Given the description of an element on the screen output the (x, y) to click on. 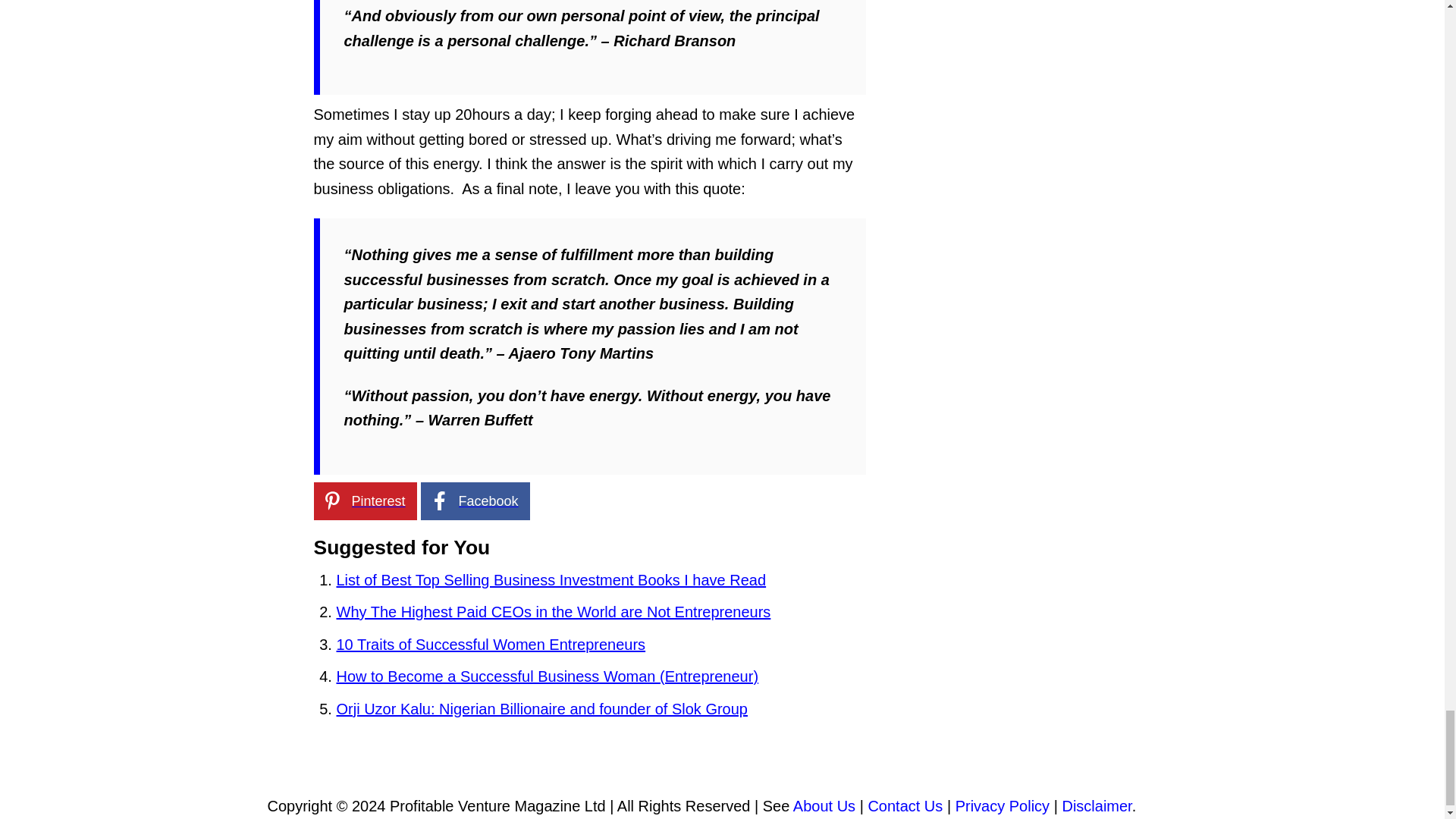
Contact Us (904, 805)
Why The Highest Paid CEOs in the World are Not Entrepreneurs (553, 611)
Pinterest (365, 501)
10 Traits of Successful Women Entrepreneurs (491, 644)
About Us (824, 805)
10 Traits of Successful Women Entrepreneurs (491, 644)
Privacy Policy (1002, 805)
Why The Highest Paid CEOs in the World are Not Entrepreneurs (553, 611)
Facebook (474, 501)
